Given the description of an element on the screen output the (x, y) to click on. 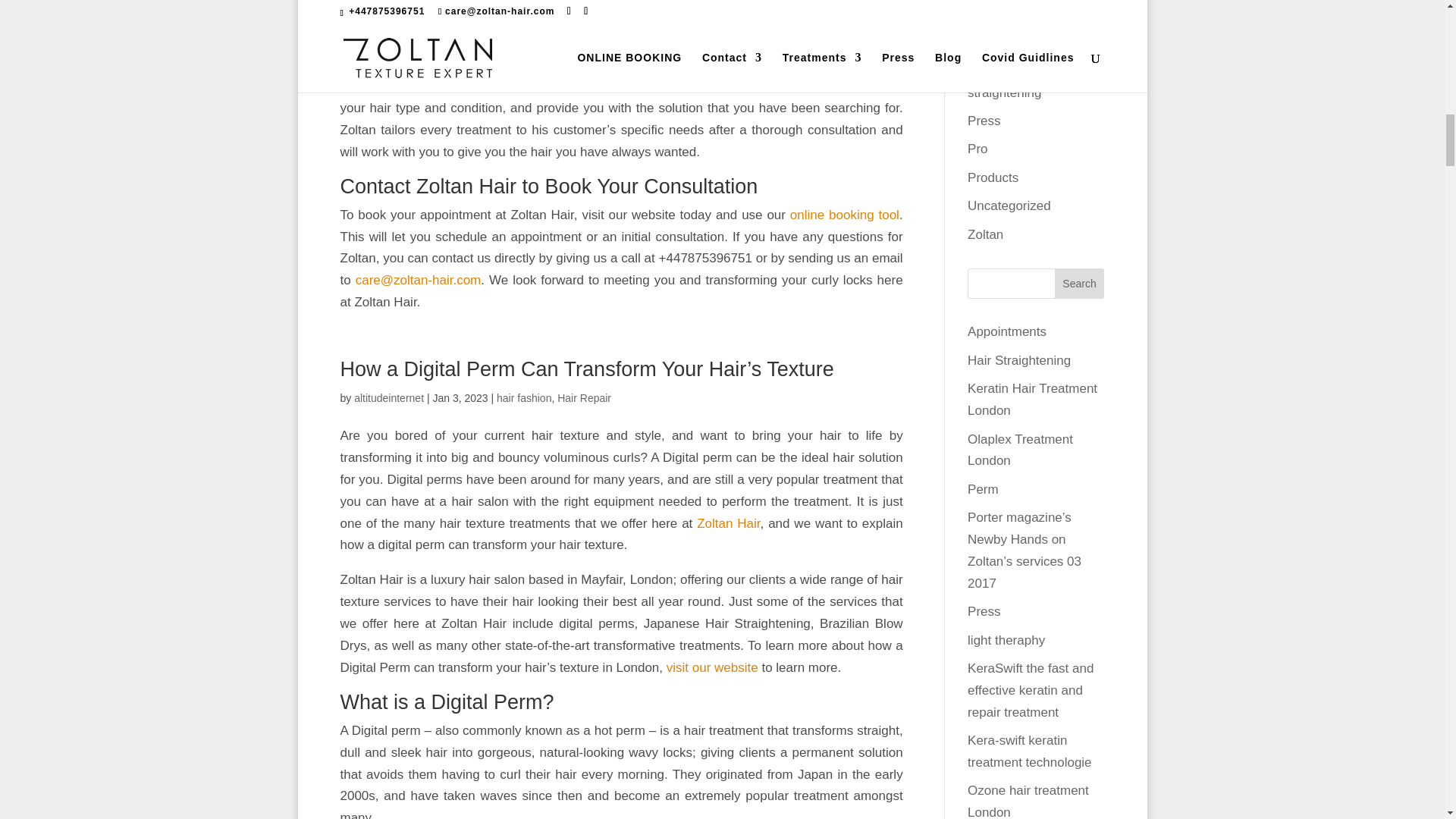
online booking tool (844, 214)
Posts by altitudeinternet (388, 398)
Search (1079, 283)
